Given the description of an element on the screen output the (x, y) to click on. 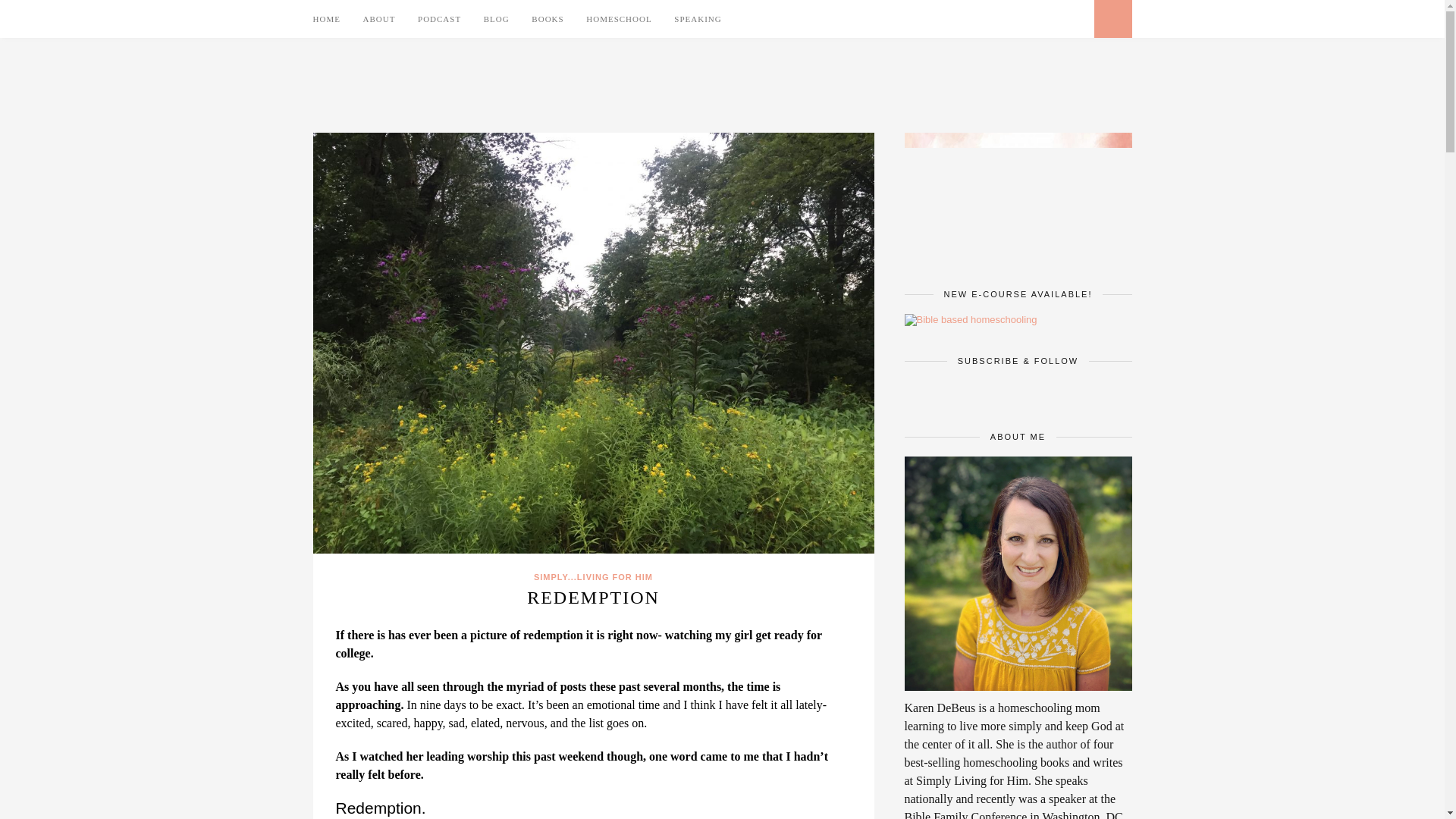
PODCAST (439, 18)
HOMESCHOOL (618, 18)
SPEAKING (697, 18)
SIMPLY...LIVING FOR HIM (593, 576)
